Given the description of an element on the screen output the (x, y) to click on. 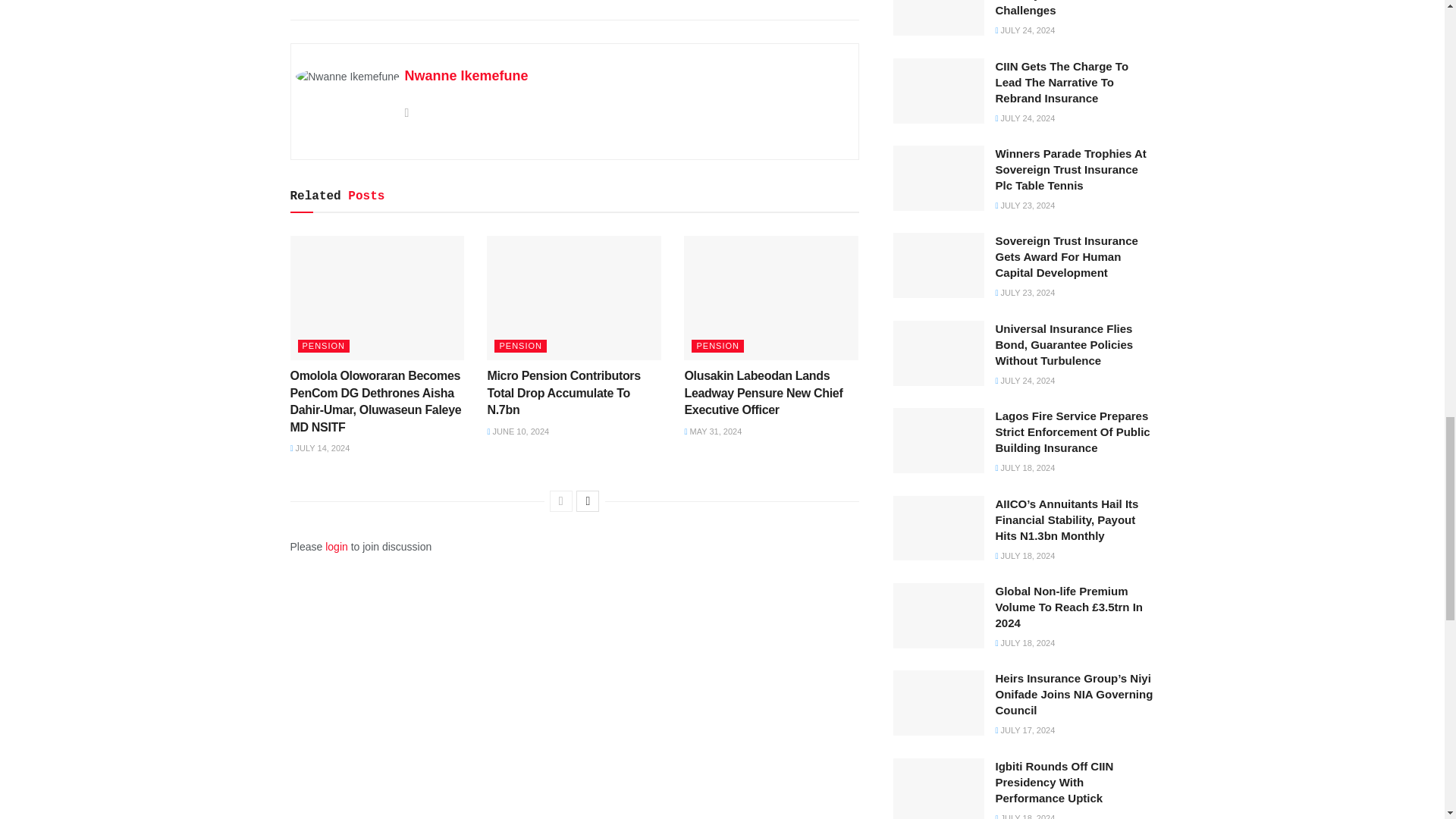
Previous (561, 500)
Next (587, 500)
